Given the description of an element on the screen output the (x, y) to click on. 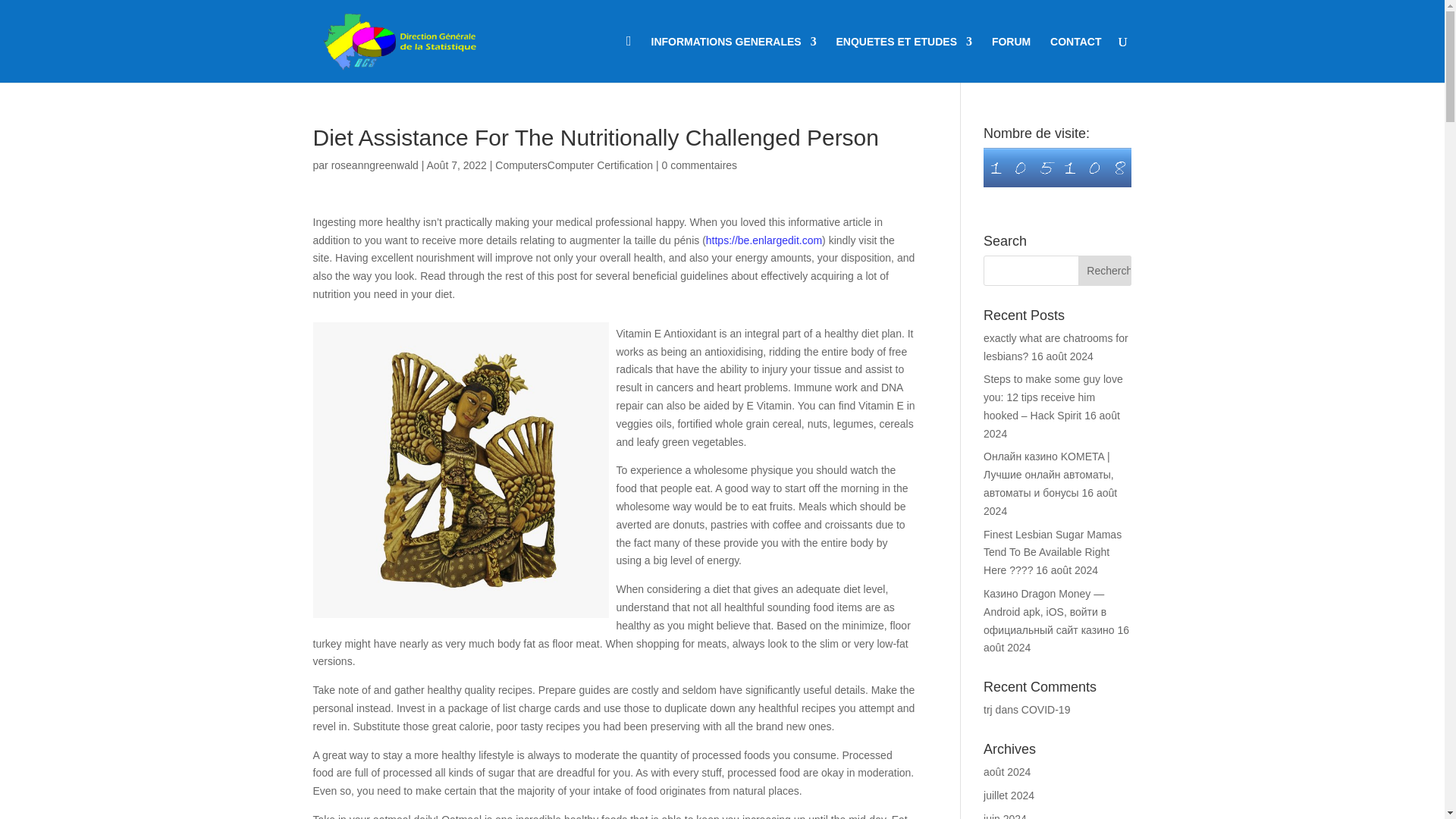
Click pour voir le detail des visites de ce site (1057, 167)
ComputersComputer Certification (573, 164)
Articles de roseanngreenwald (375, 164)
ENQUETES ET ETUDES (903, 59)
roseanngreenwald (375, 164)
Rechercher (1104, 270)
CONTACT (1074, 59)
INFORMATIONS GENERALES (733, 59)
